Given the description of an element on the screen output the (x, y) to click on. 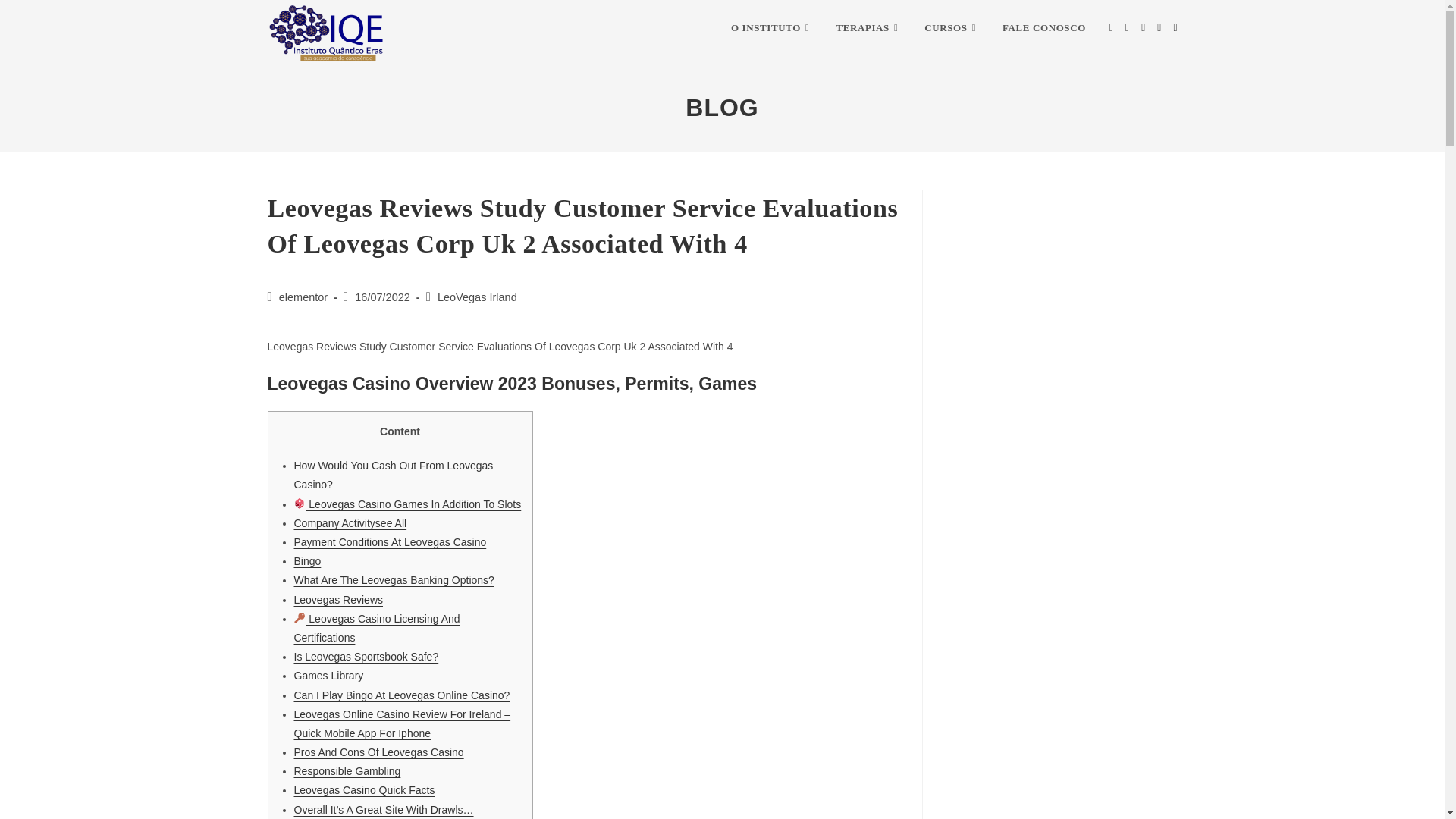
TERAPIAS (868, 28)
CURSOS (951, 28)
Posts de elementor (303, 297)
O INSTITUTO (771, 28)
FALE CONOSCO (1044, 28)
